Given the description of an element on the screen output the (x, y) to click on. 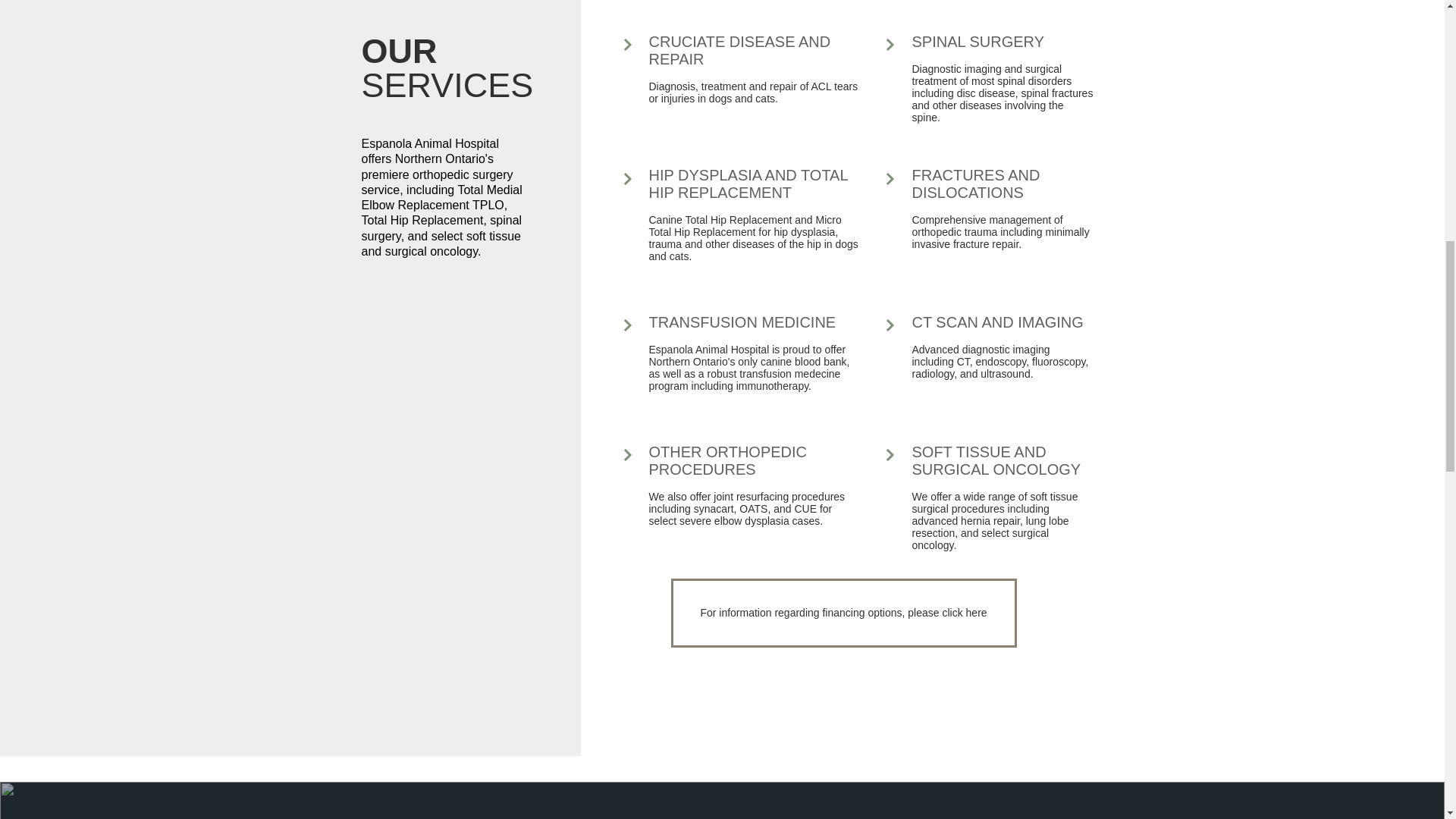
TRANSFUSION MEDICINE (742, 321)
SOFT TISSUE AND SURGICAL ONCOLOGY (995, 460)
CT SCAN AND IMAGING (997, 321)
HIP DYSPLASIA AND TOTAL HIP REPLACEMENT (748, 183)
CRUCIATE DISEASE AND REPAIR (740, 50)
